Given the description of an element on the screen output the (x, y) to click on. 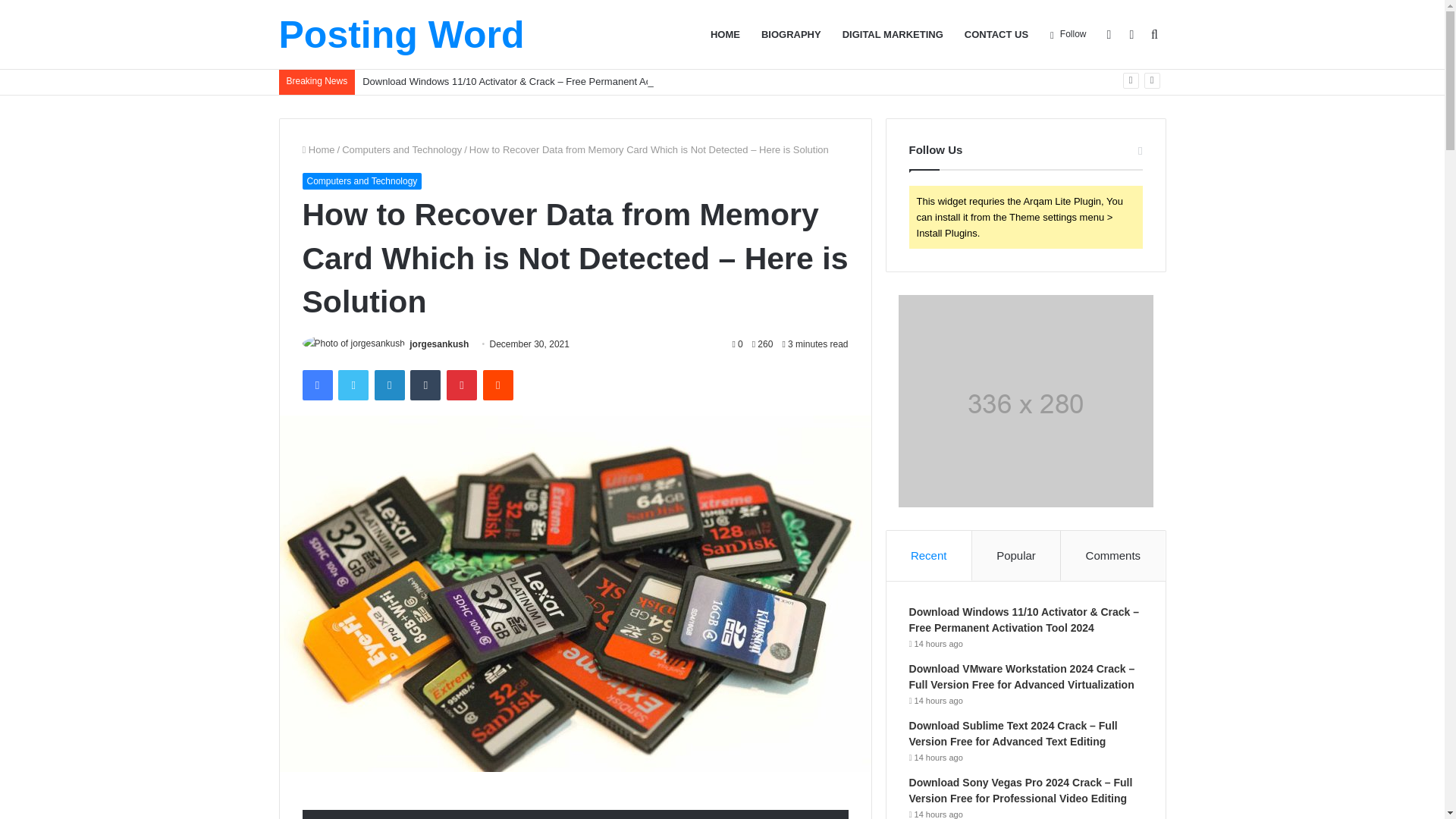
Pinterest (461, 385)
Posting Word (401, 34)
Tumblr (425, 385)
Reddit (498, 385)
Posting Word (401, 34)
jorgesankush (438, 344)
jorgesankush (438, 344)
DIGITAL MARKETING (892, 33)
Pinterest (461, 385)
Computers and Technology (401, 149)
